Given the description of an element on the screen output the (x, y) to click on. 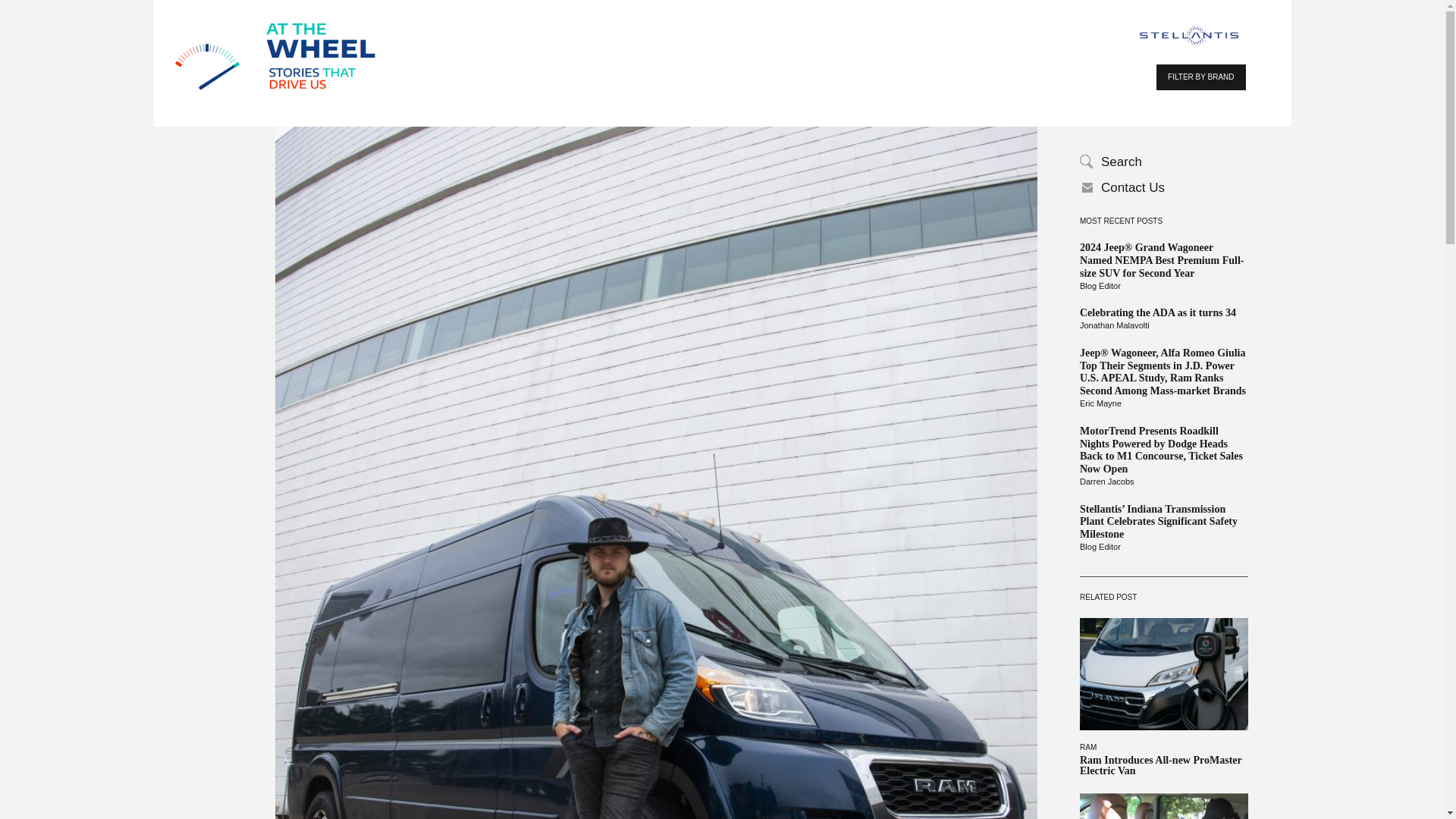
FILTER BY BRAND (1200, 77)
Search (1163, 162)
Ram Introduces All-new ProMaster Electric Van (1163, 765)
Blog Editor (1163, 286)
RAM (1088, 746)
Ram Introduces All-new ProMaster Electric Van (1163, 765)
Eric Mayne (1163, 404)
Blog Editor (1163, 547)
Celebrating the ADA as it turns 34 (1163, 313)
